Given the description of an element on the screen output the (x, y) to click on. 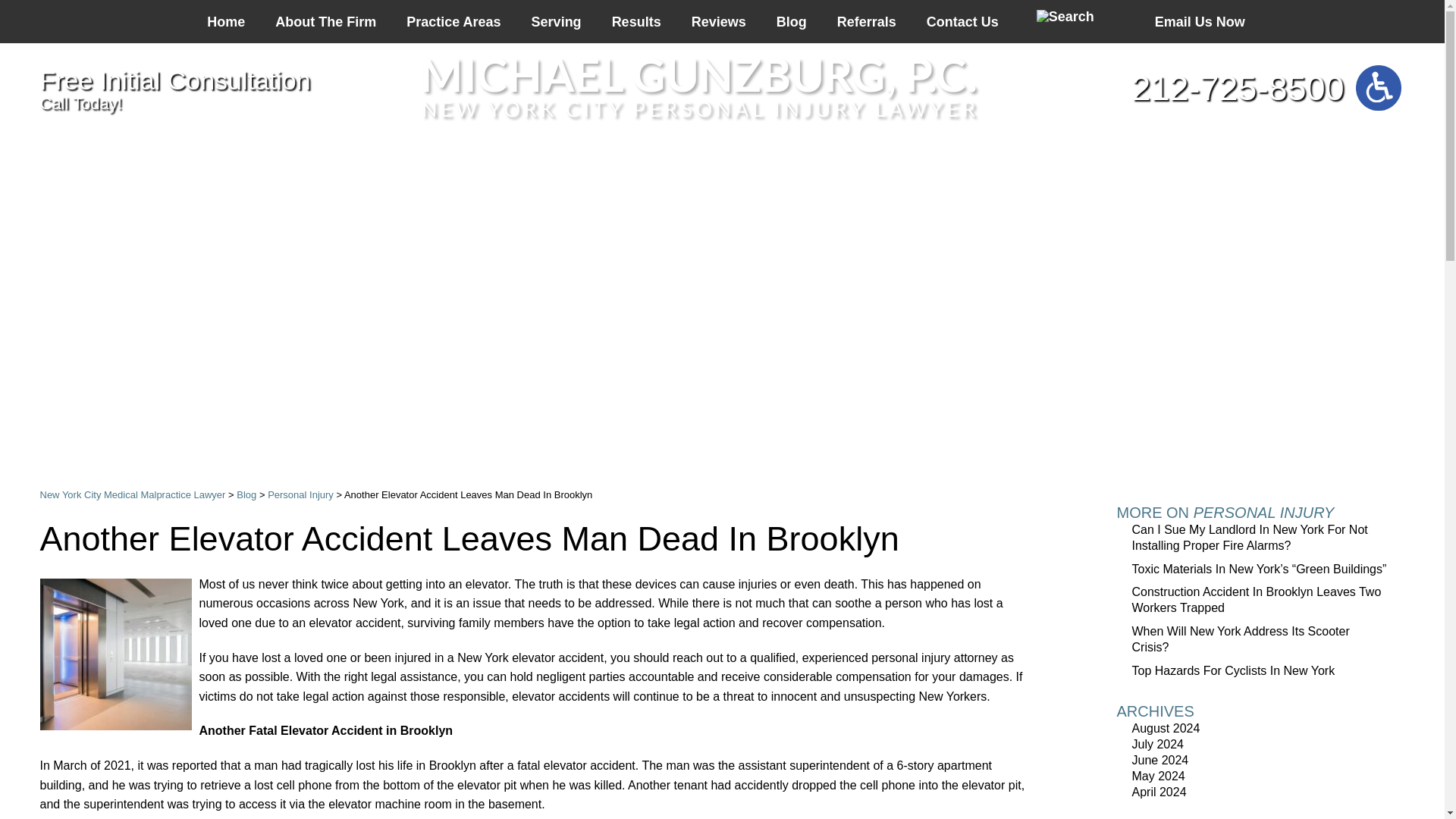
About The Firm (325, 21)
Search (1065, 16)
Practice Areas (453, 21)
Elevator2 (114, 654)
Home (226, 21)
Switch to ADA Accessible Theme (1377, 87)
